Given the description of an element on the screen output the (x, y) to click on. 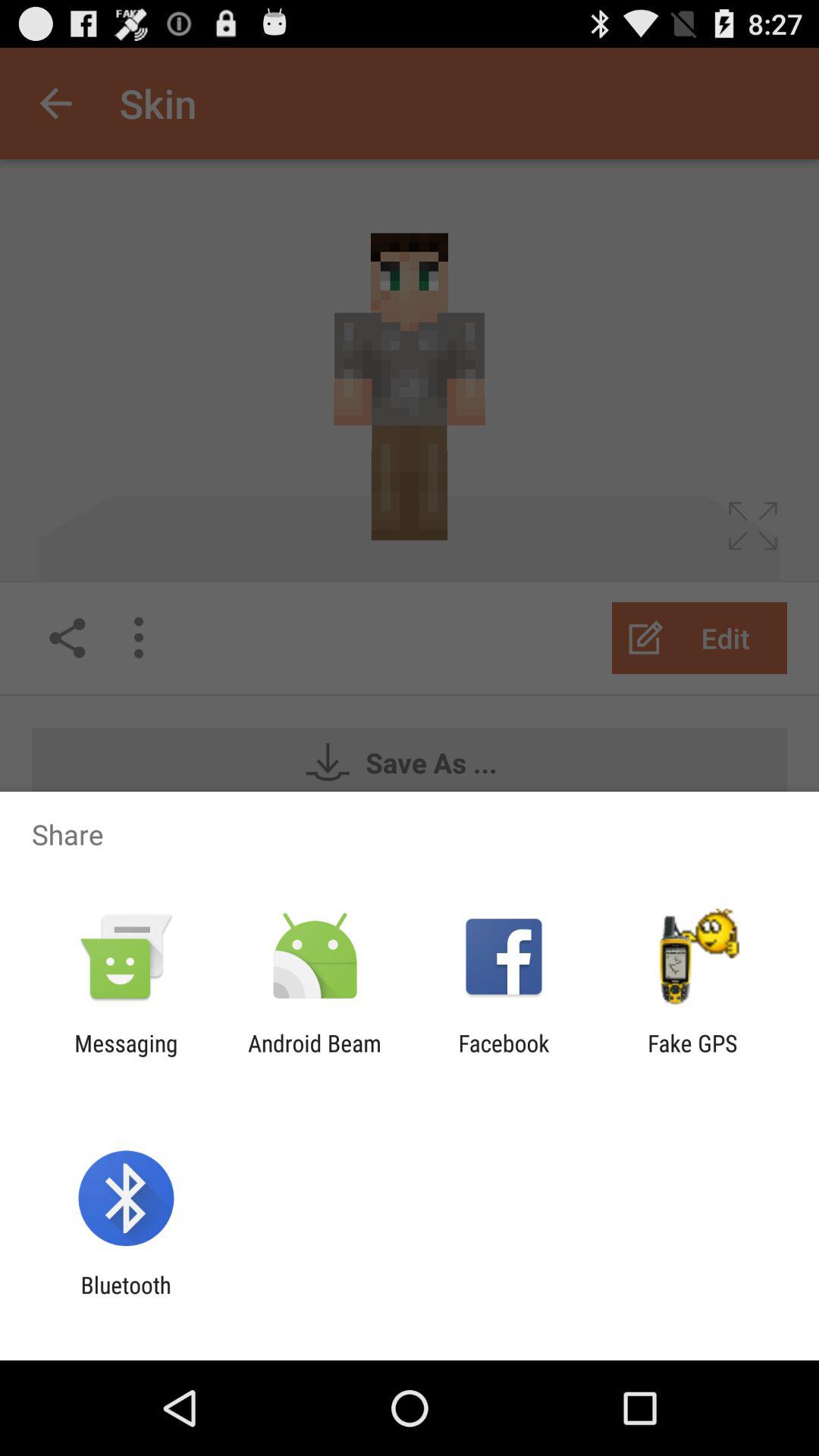
choose app to the left of android beam icon (126, 1056)
